Given the description of an element on the screen output the (x, y) to click on. 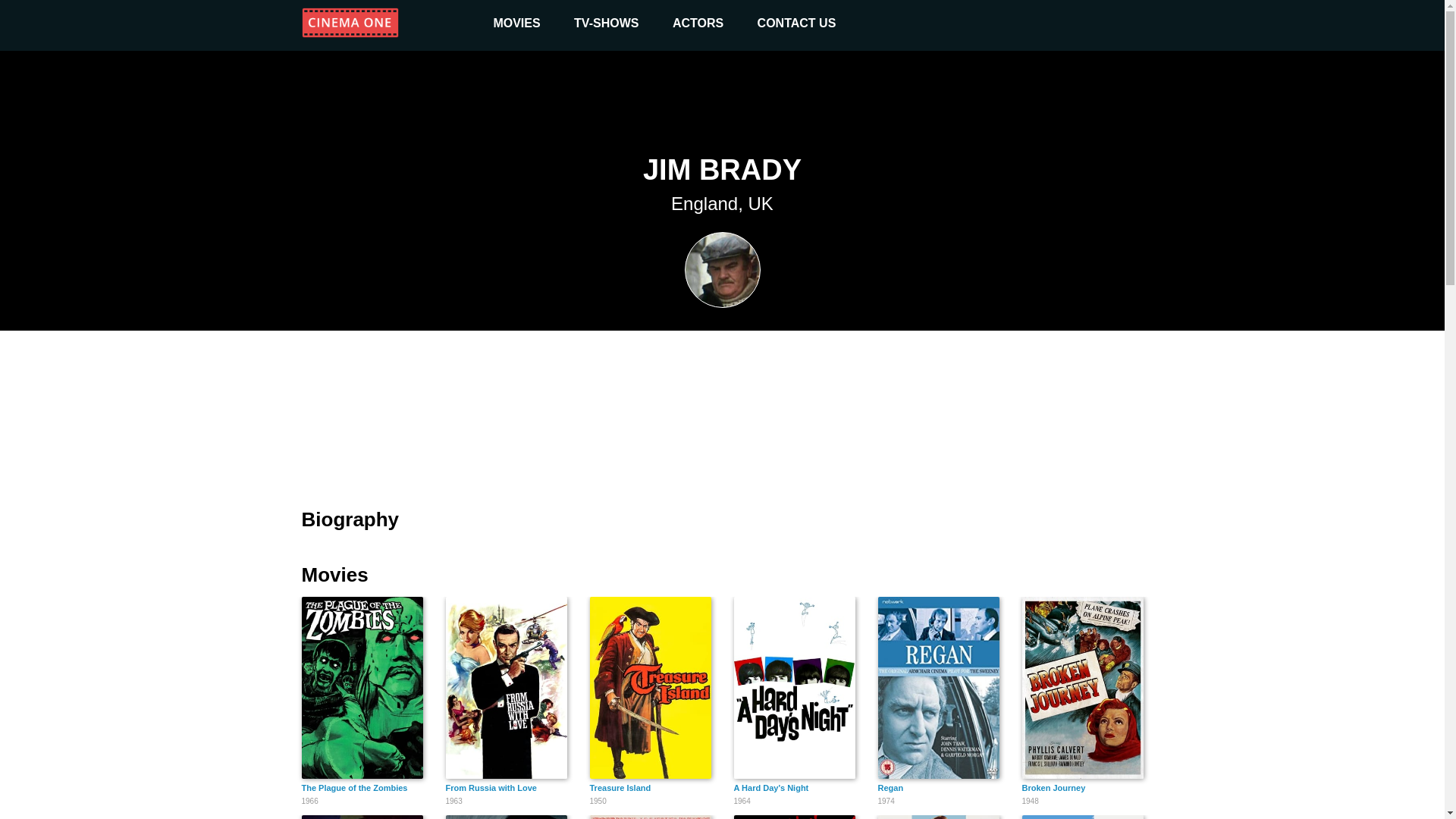
TV-SHOWS (606, 22)
ACTORS (794, 816)
MOVIES (650, 816)
CONTACT US (362, 816)
